Given the description of an element on the screen output the (x, y) to click on. 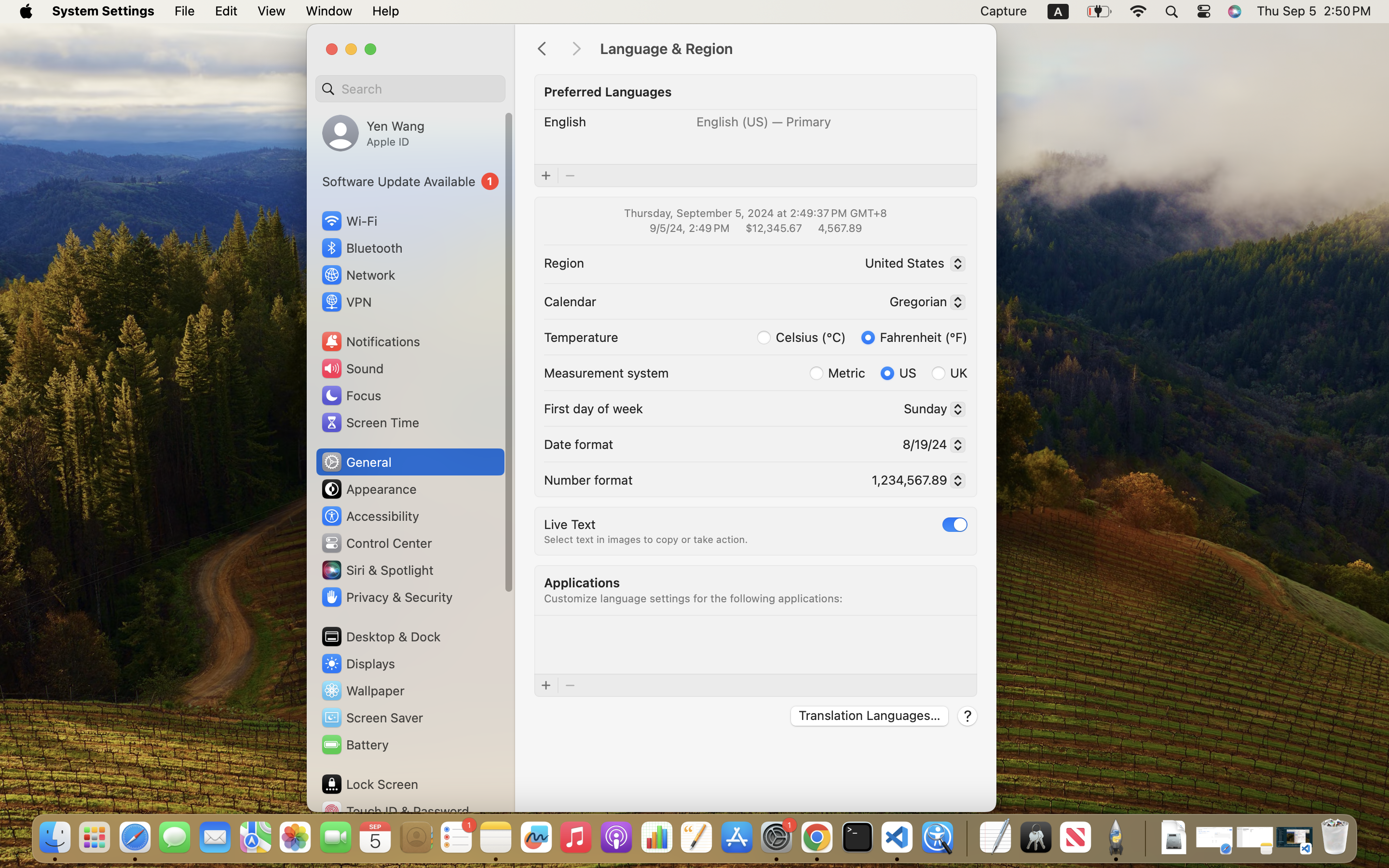
Siri & Spotlight Element type: AXStaticText (376, 569)
Temperature Element type: AXStaticText (581, 336)
8/19/24 Element type: AXPopUpButton (929, 446)
English (US) — Primary Element type: AXStaticText (763, 121)
Control Center Element type: AXStaticText (376, 542)
